Given the description of an element on the screen output the (x, y) to click on. 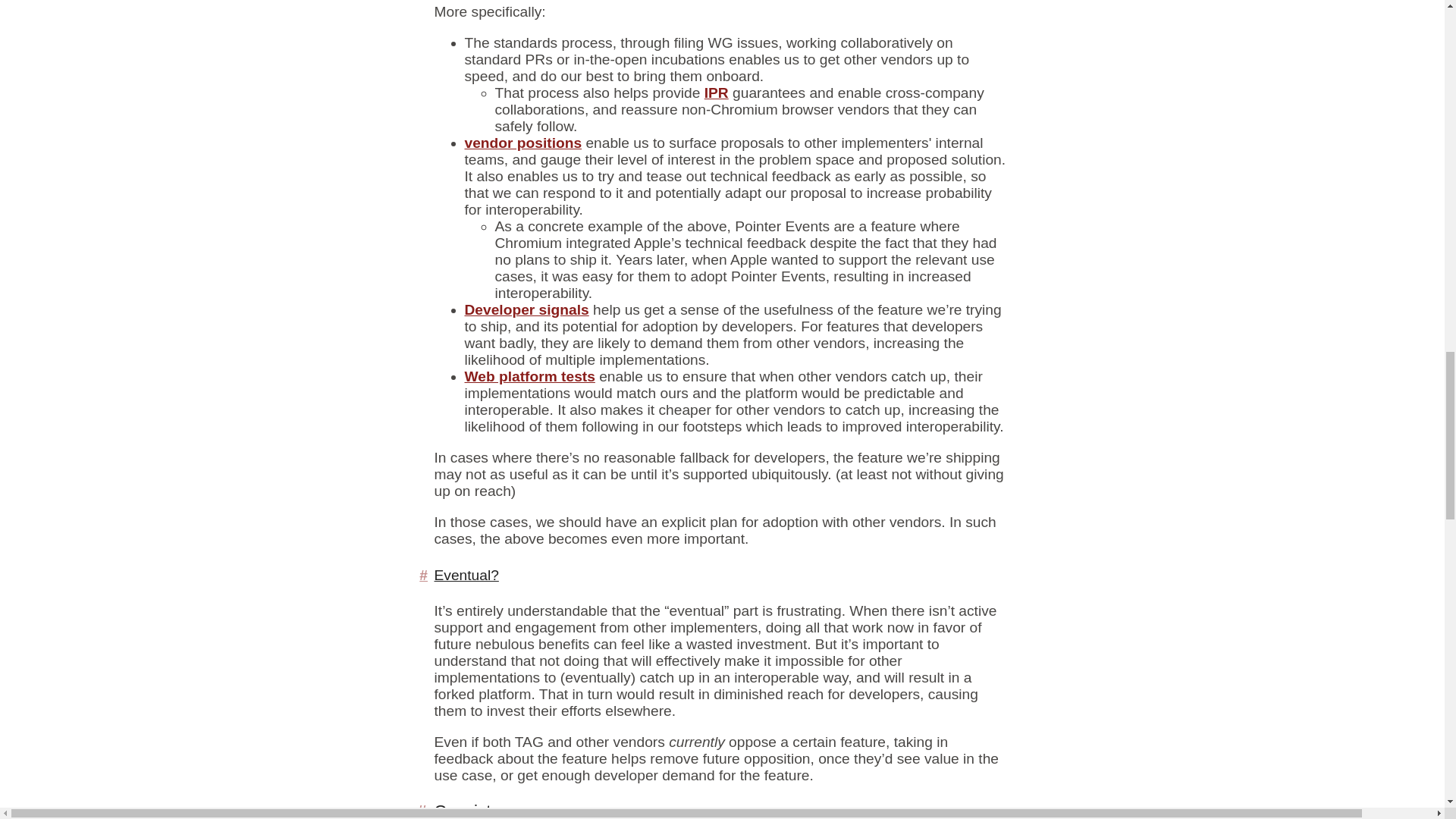
Developer signals (526, 309)
vendor positions (522, 142)
IPR (716, 92)
Web platform tests (529, 376)
